Given the description of an element on the screen output the (x, y) to click on. 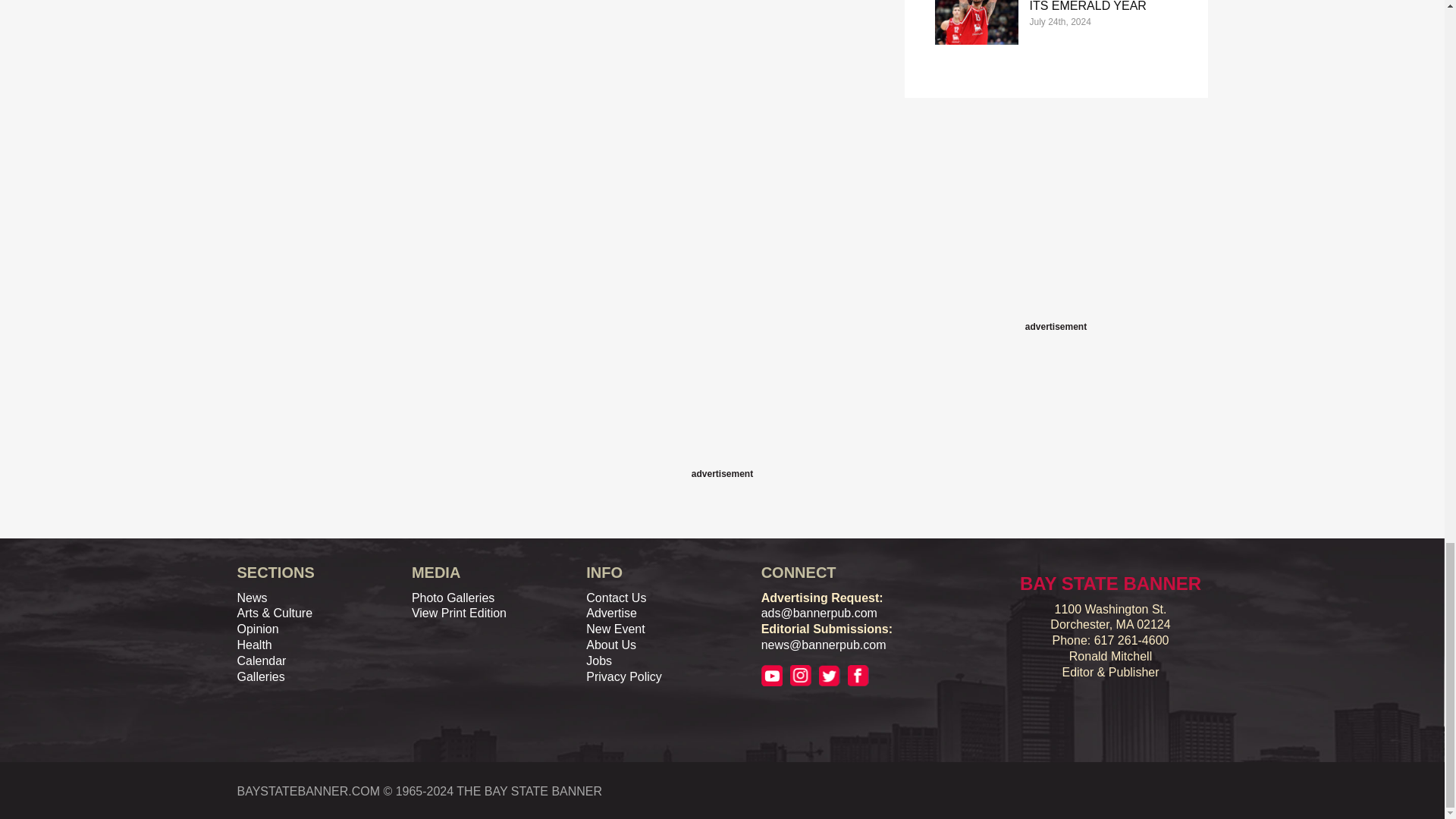
3rd party ad content (1055, 222)
3rd party ad content (721, 430)
